Given the description of an element on the screen output the (x, y) to click on. 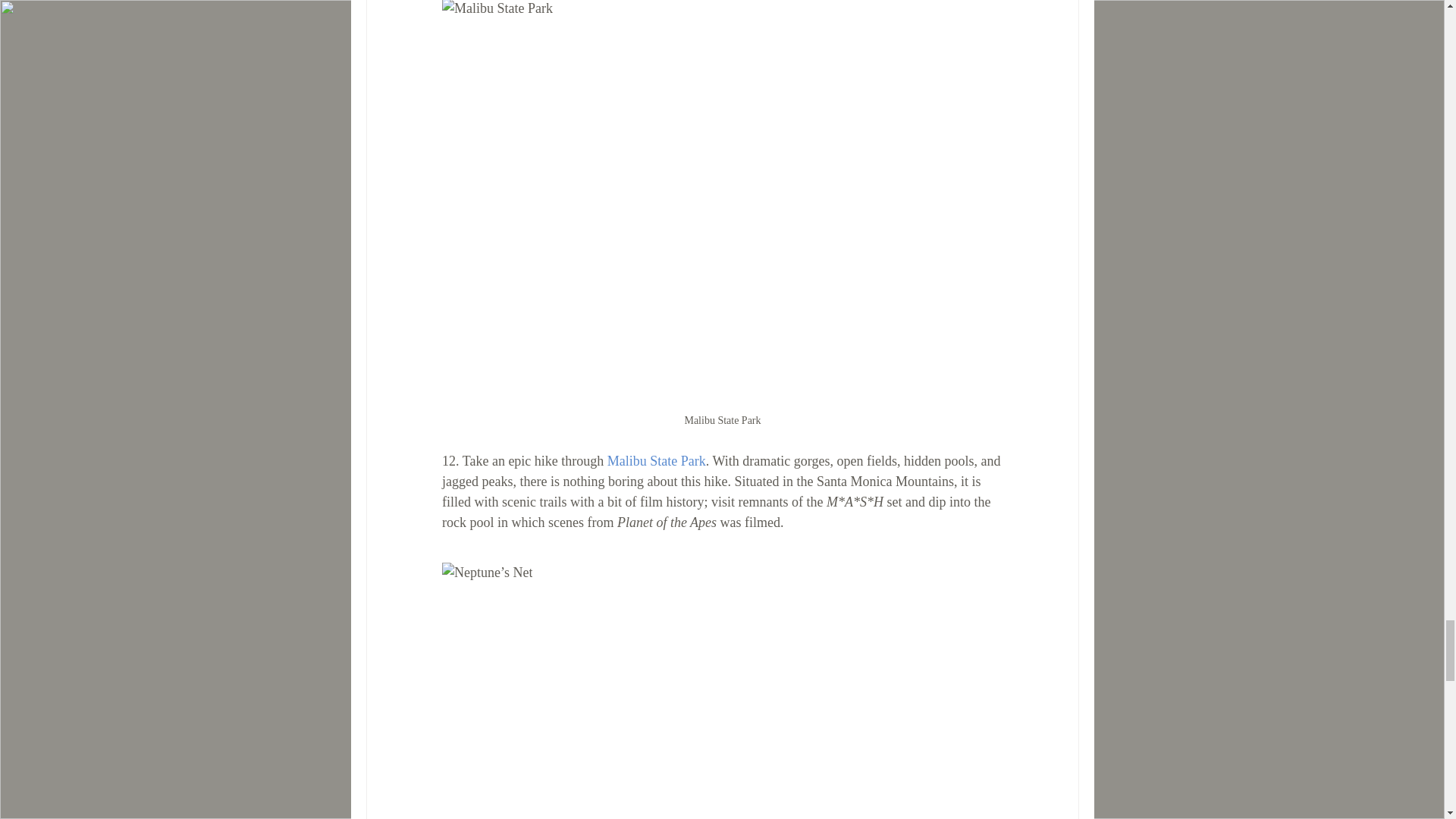
Malibu State Park (655, 460)
